Given the description of an element on the screen output the (x, y) to click on. 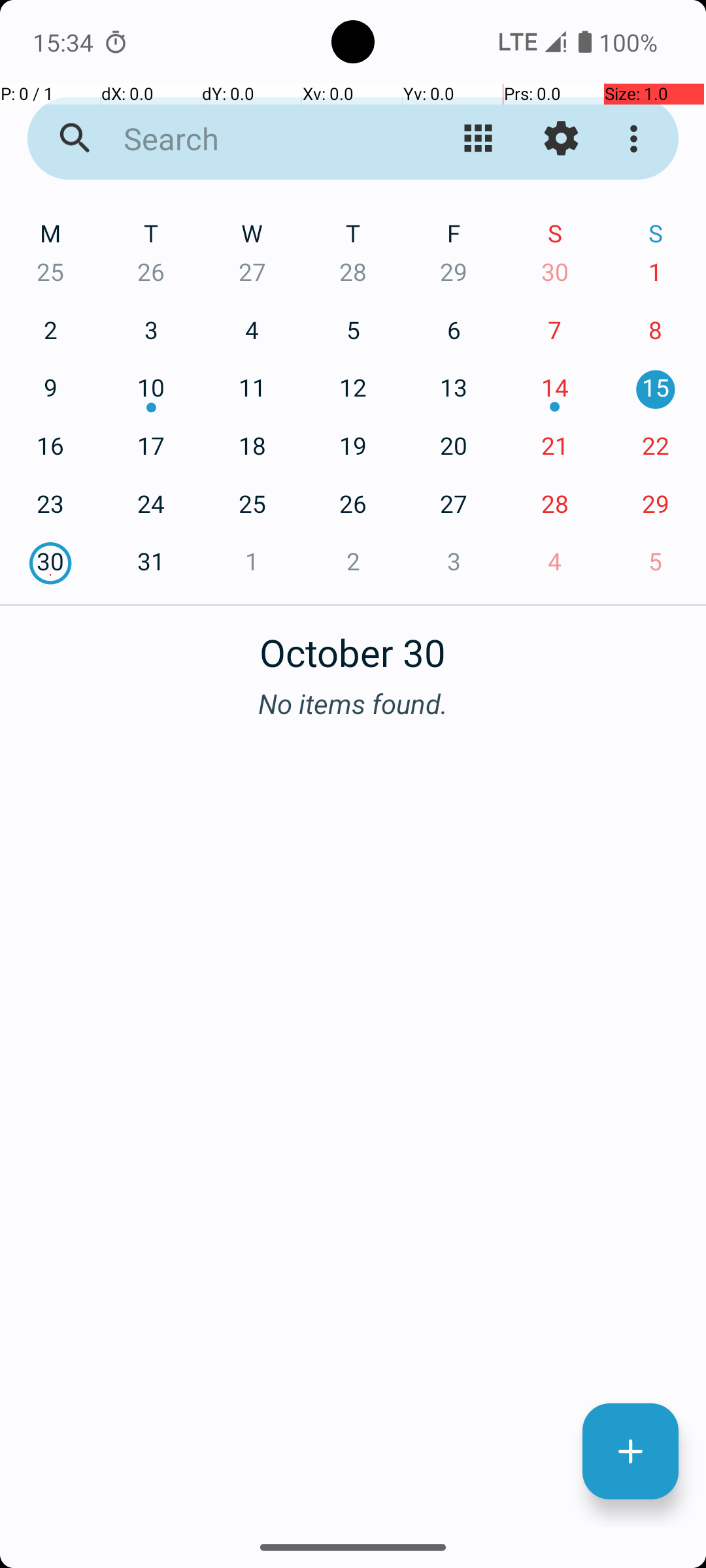
October 30 Element type: android.widget.TextView (352, 644)
